Given the description of an element on the screen output the (x, y) to click on. 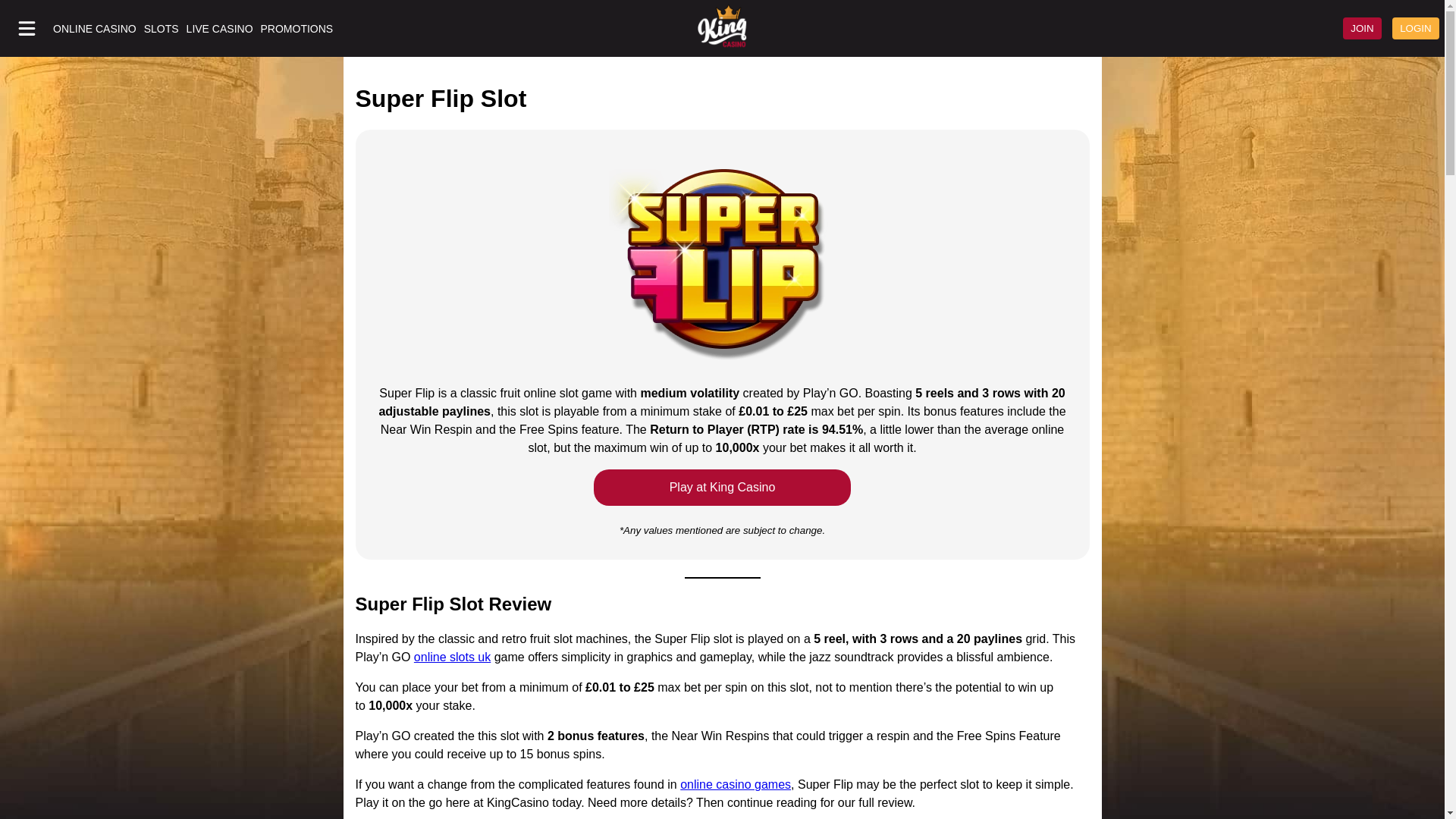
ONLINE CASINO (94, 28)
online casino games (734, 784)
online slots uk (451, 656)
SLOTS (161, 28)
LIVE CASINO (219, 28)
Play at King Casino (722, 487)
PROMOTIONS (296, 28)
JOIN (1361, 27)
LOGIN (1415, 27)
